Given the description of an element on the screen output the (x, y) to click on. 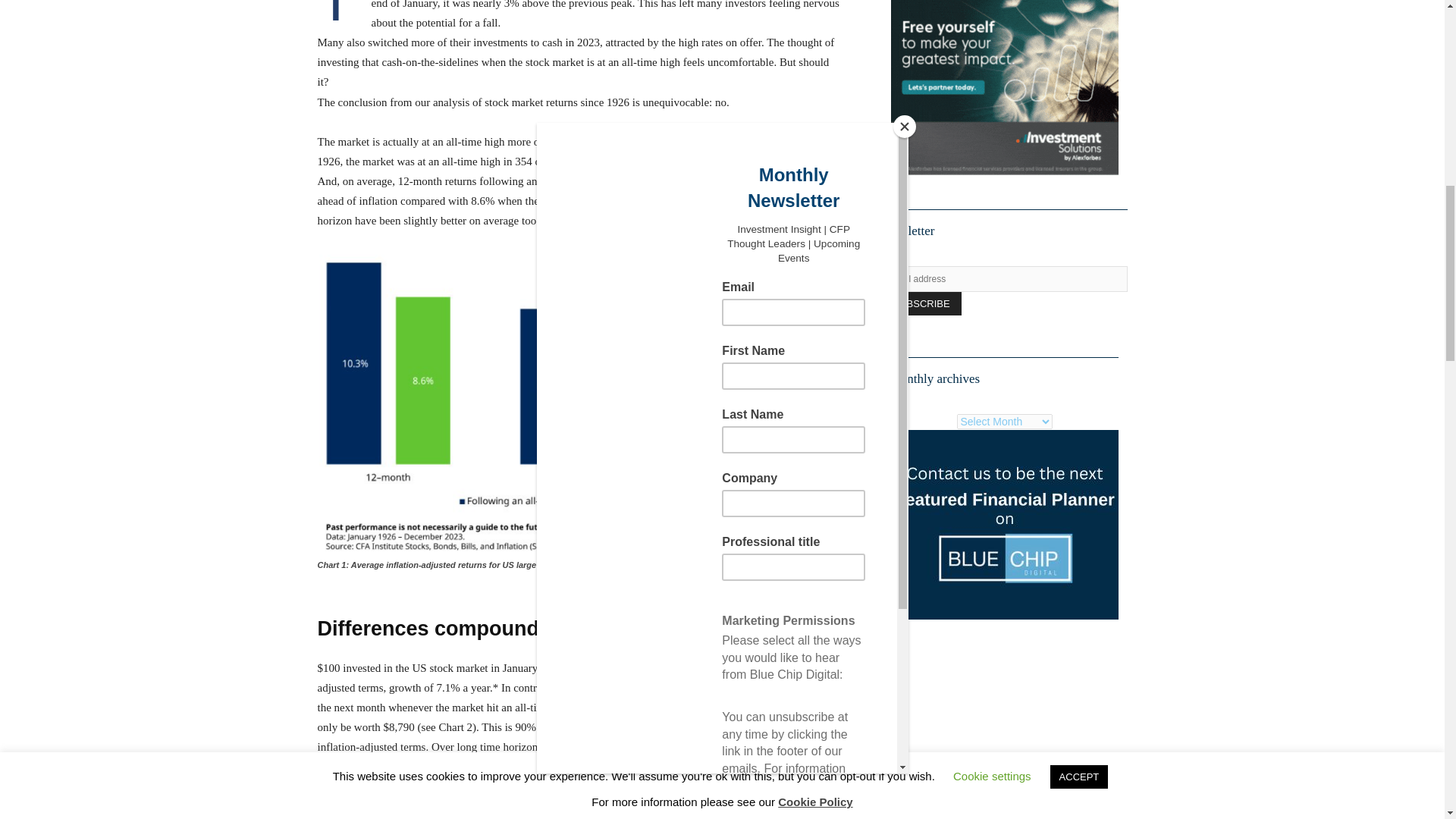
Subscribe (920, 303)
